Given the description of an element on the screen output the (x, y) to click on. 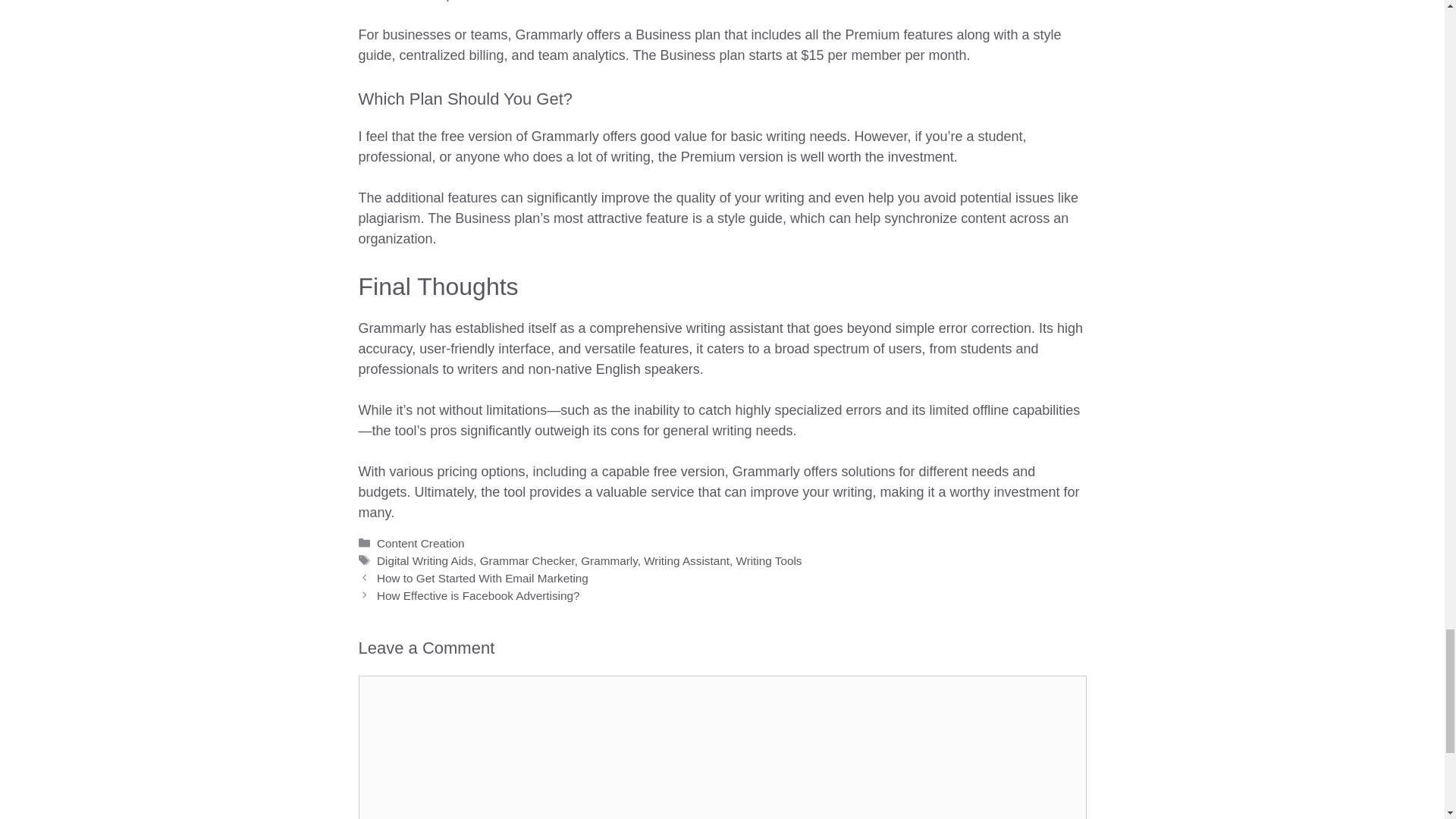
Content Creation (420, 543)
Writing Assistant (686, 560)
Writing Tools (768, 560)
Grammar Checker (527, 560)
Grammarly (608, 560)
Digital Writing Aids (425, 560)
